Given the description of an element on the screen output the (x, y) to click on. 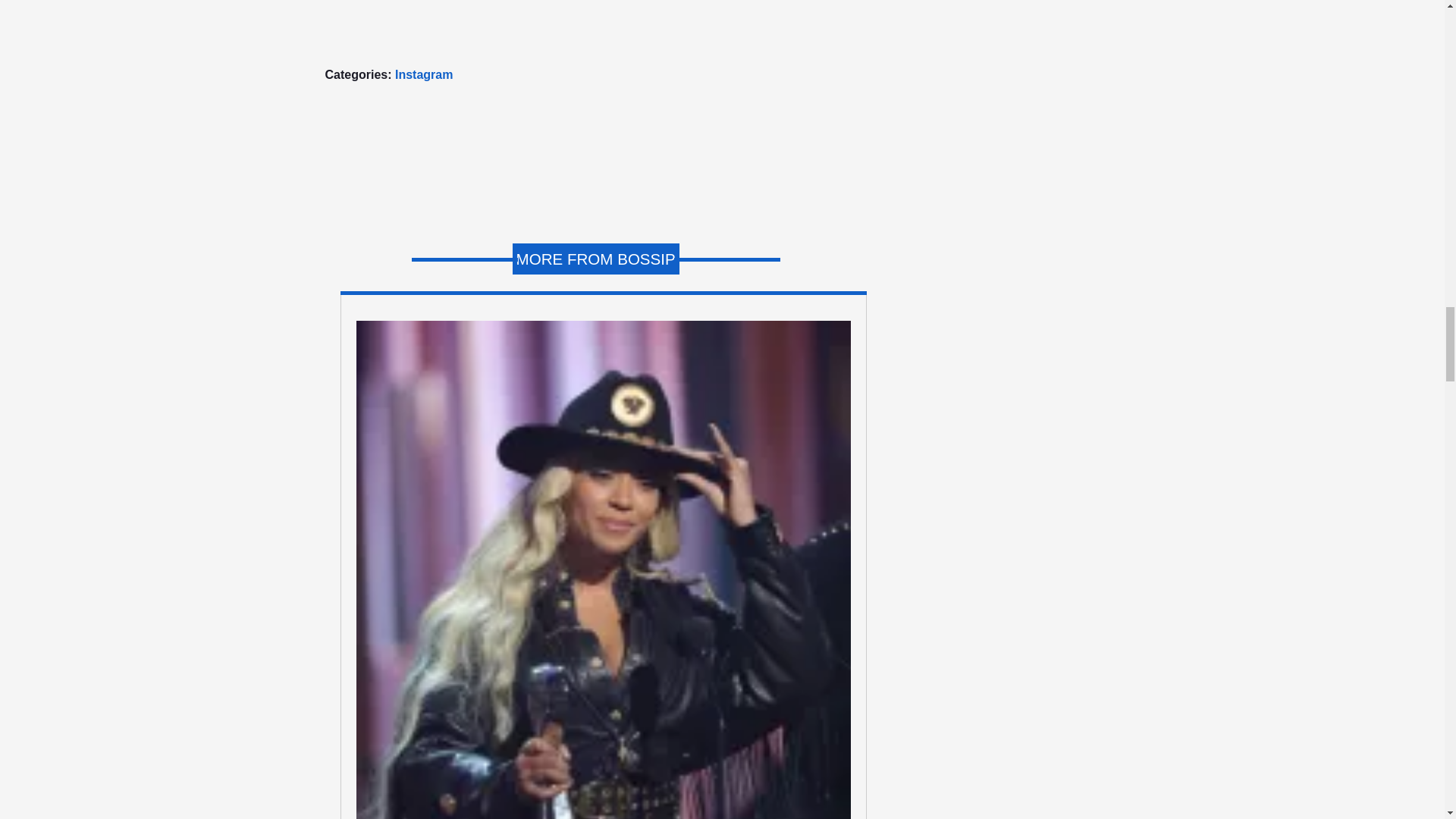
Instagram (423, 74)
